Given the description of an element on the screen output the (x, y) to click on. 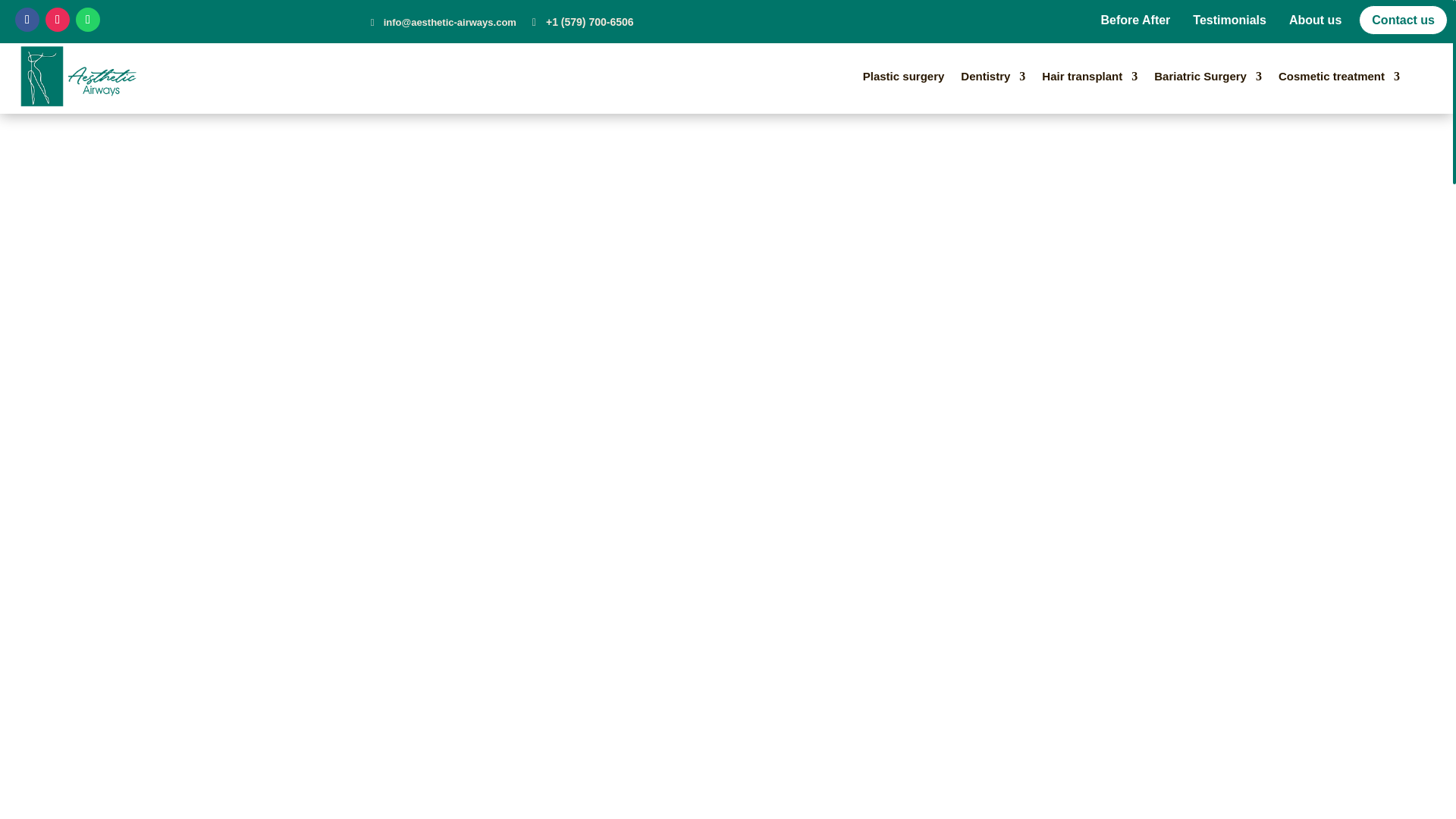
Contact us (1402, 19)
Cosmetic treatment (1338, 76)
Plastic surgery (903, 76)
Hair transplant (1089, 76)
Follow on Instagram (57, 19)
Dentistry (992, 76)
Before After (1141, 19)
Follow on WhatsApp (87, 19)
Testimonials (1235, 19)
Follow on Facebook (26, 19)
